Given the description of an element on the screen output the (x, y) to click on. 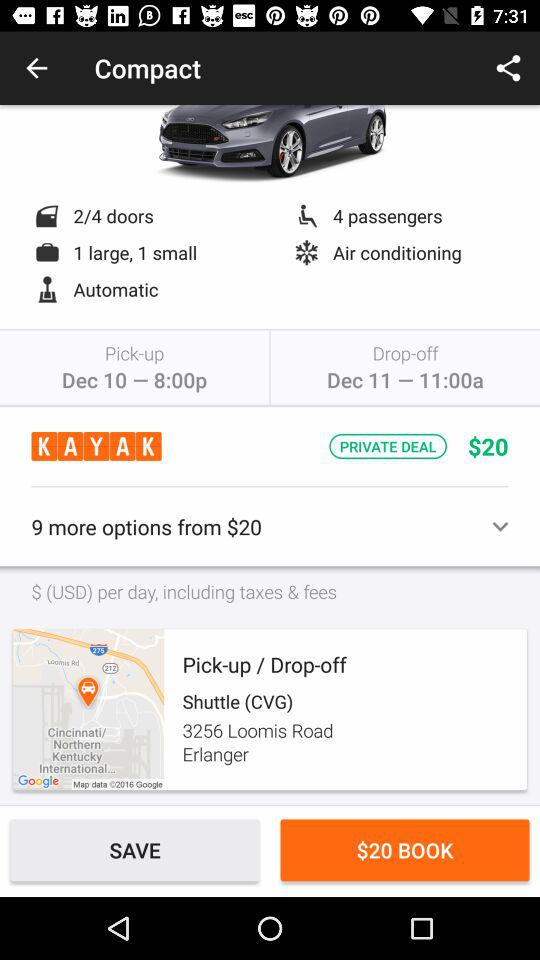
map (88, 709)
